Given the description of an element on the screen output the (x, y) to click on. 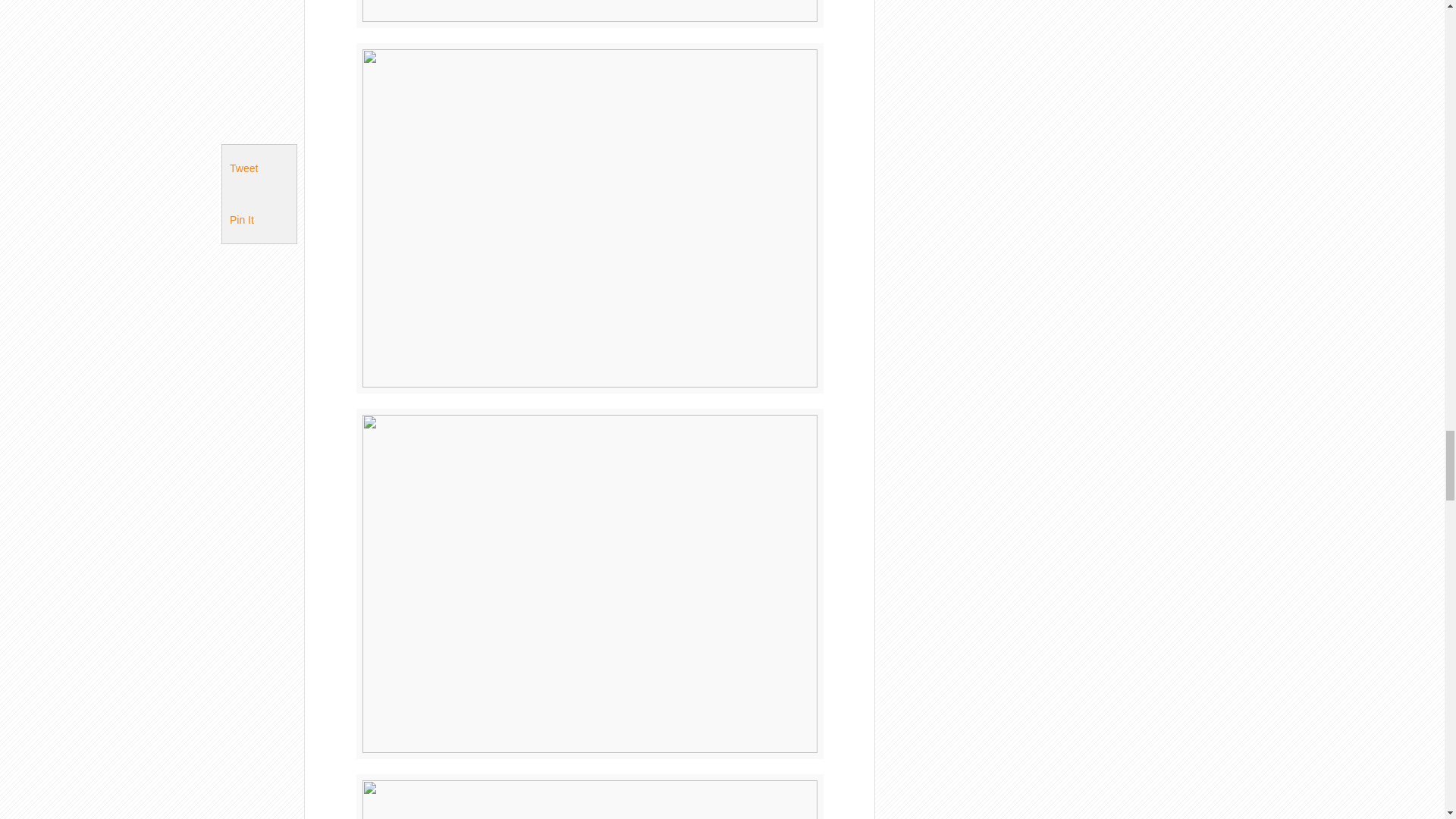
animal-4 (590, 796)
animal-13 (590, 13)
